Given the description of an element on the screen output the (x, y) to click on. 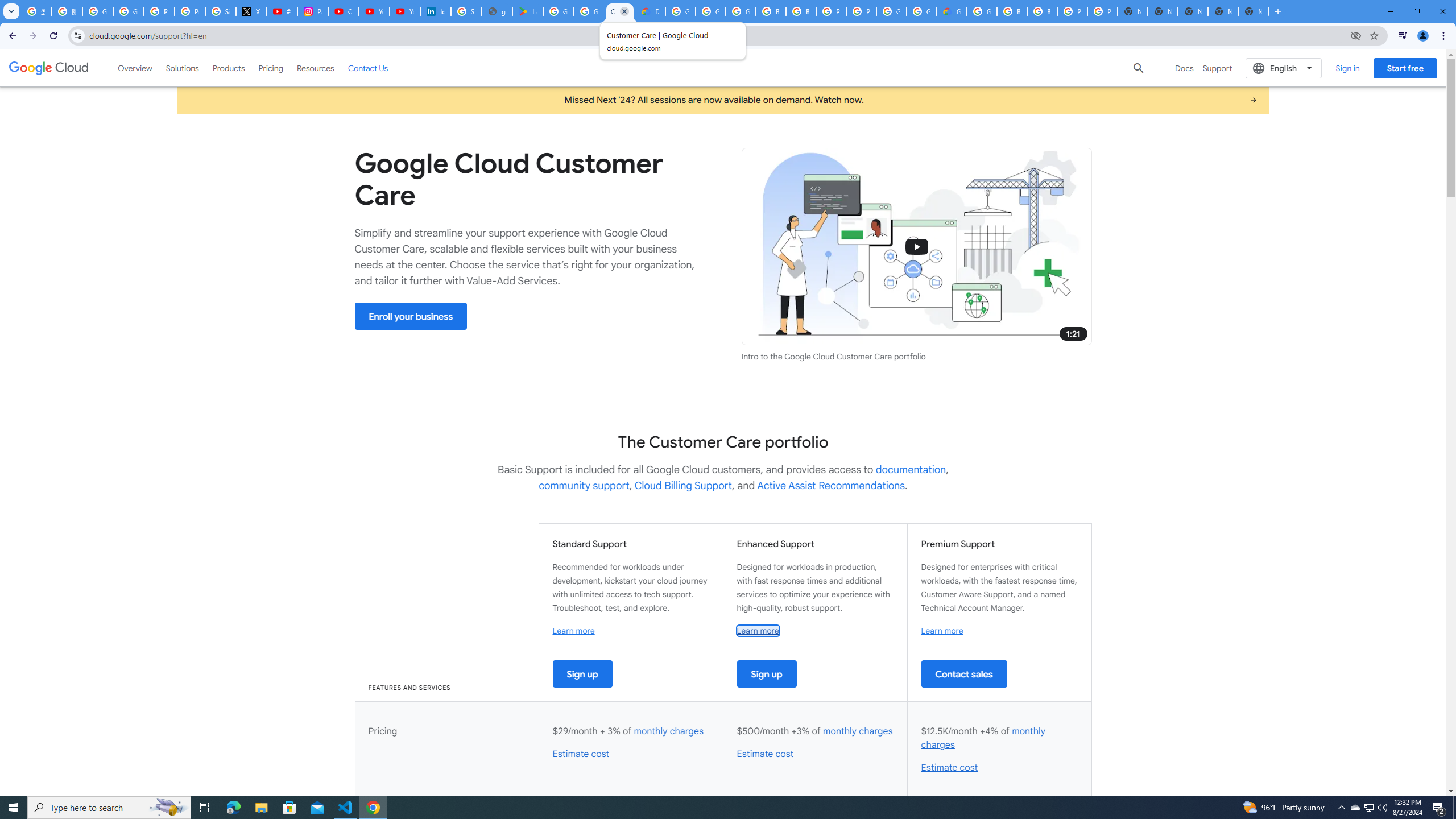
Cloud Billing Support (683, 485)
New Tab (1253, 11)
Sign in - Google Accounts (220, 11)
Sign up (766, 673)
Estimate cost (949, 767)
Customer Care | Google Cloud (619, 11)
#nbabasketballhighlights - YouTube (282, 11)
Browse Chrome as a guest - Computer - Google Chrome Help (800, 11)
